Given the description of an element on the screen output the (x, y) to click on. 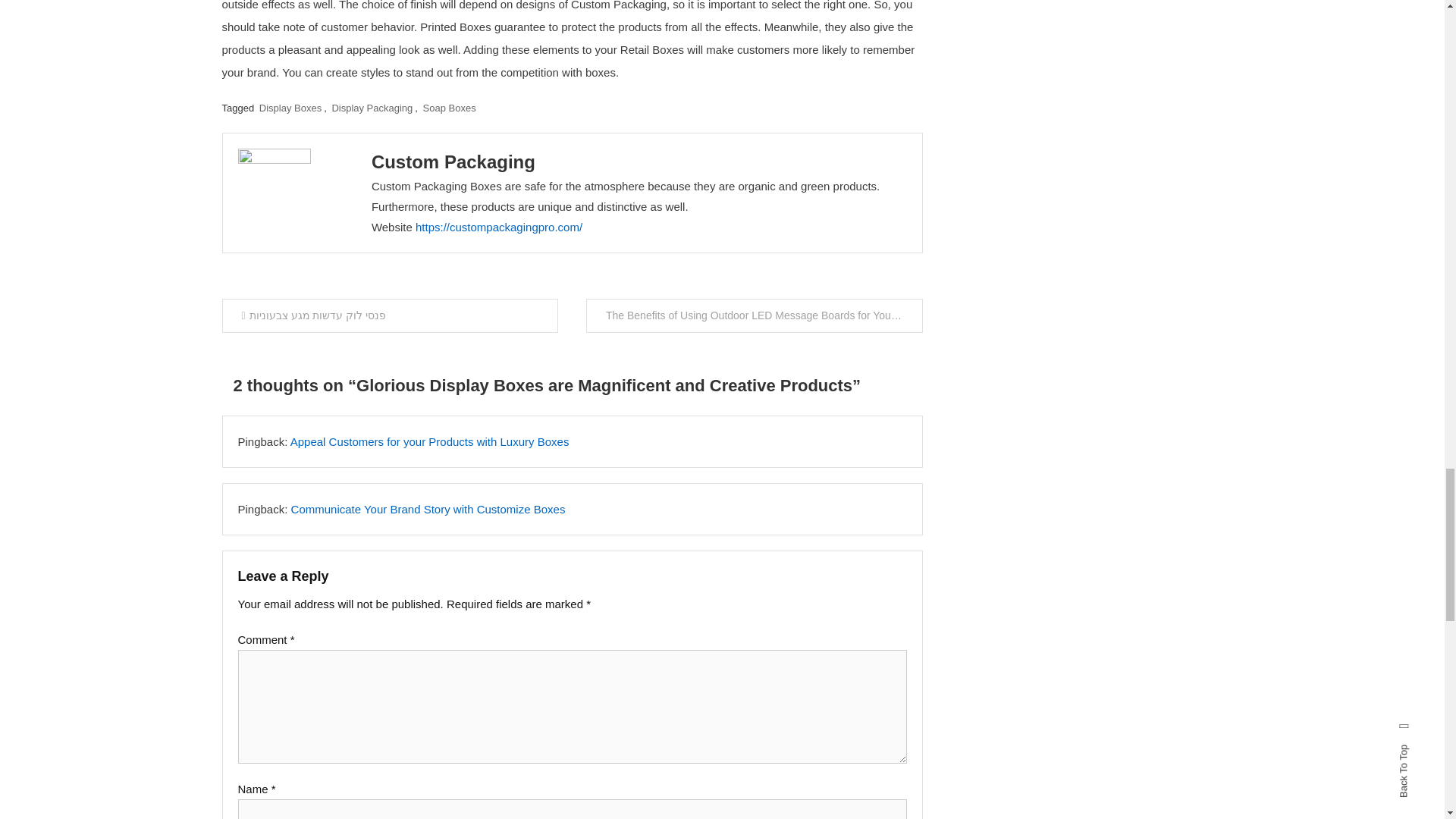
Posts by Custom Packaging (453, 161)
